Given the description of an element on the screen output the (x, y) to click on. 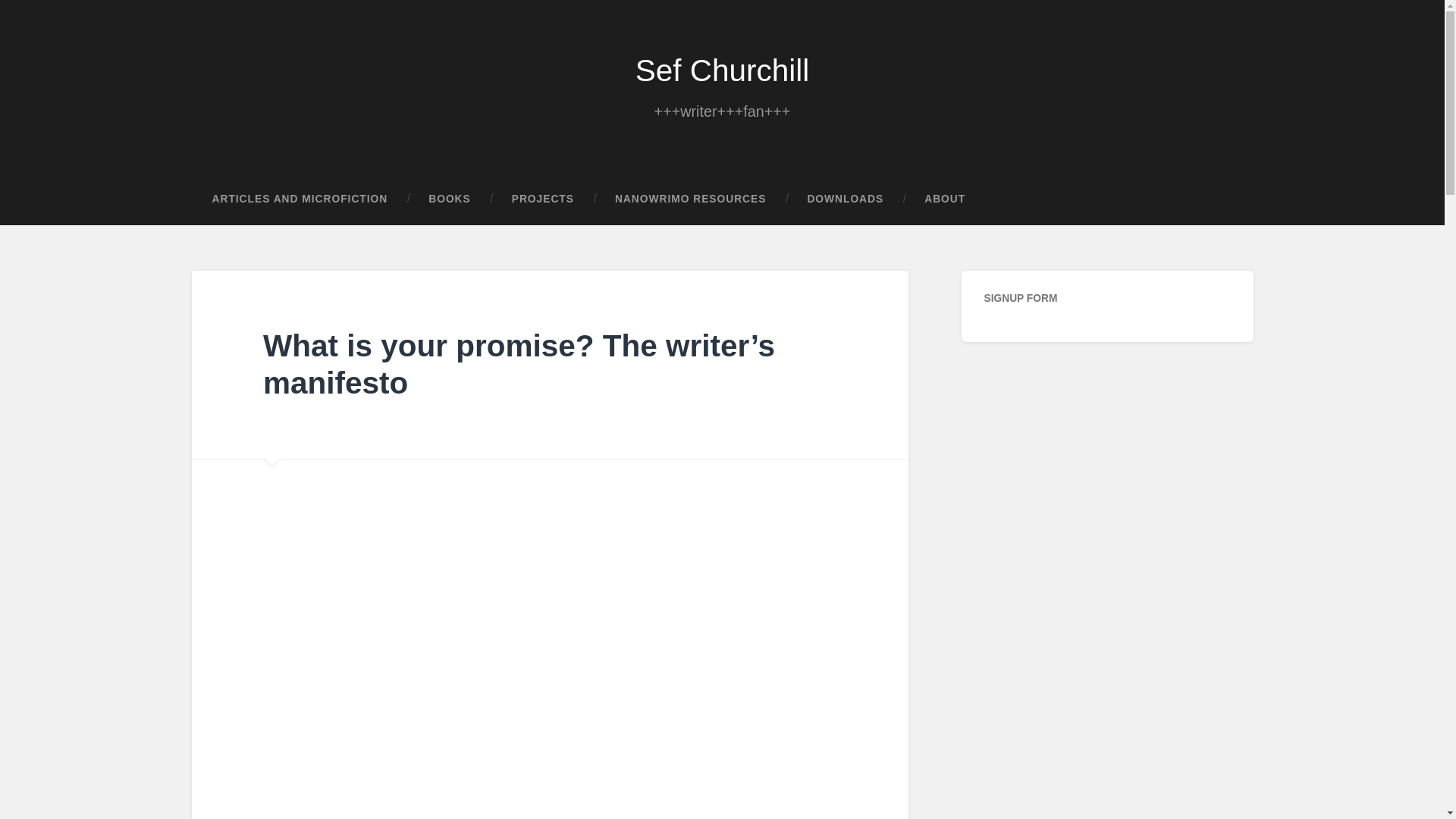
BOOKS (448, 199)
ARTICLES AND MICROFICTION (298, 199)
DOWNLOADS (845, 199)
NANOWRIMO RESOURCES (690, 199)
PROJECTS (543, 199)
ABOUT (944, 199)
Sef Churchill (721, 70)
